Given the description of an element on the screen output the (x, y) to click on. 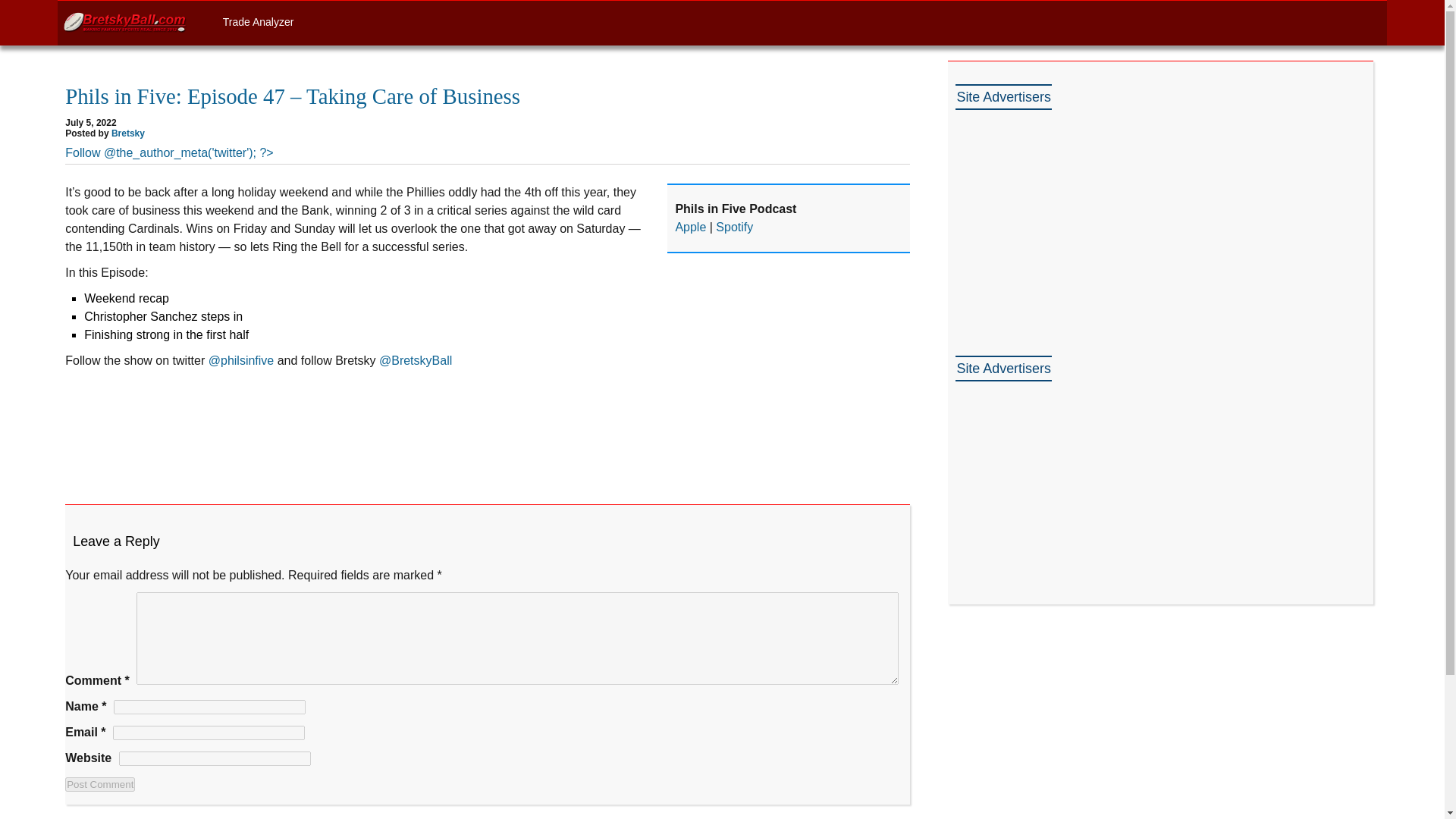
Post Comment (100, 784)
Posts by Bretsky (128, 132)
Post Comment (100, 784)
Bretsky (128, 132)
Apple (690, 226)
Advertisement (1068, 212)
Trade Analyzer (258, 21)
Advertisement (1068, 483)
Episode 47 - Taking Care of Business (487, 427)
Spotify (734, 226)
